Given the description of an element on the screen output the (x, y) to click on. 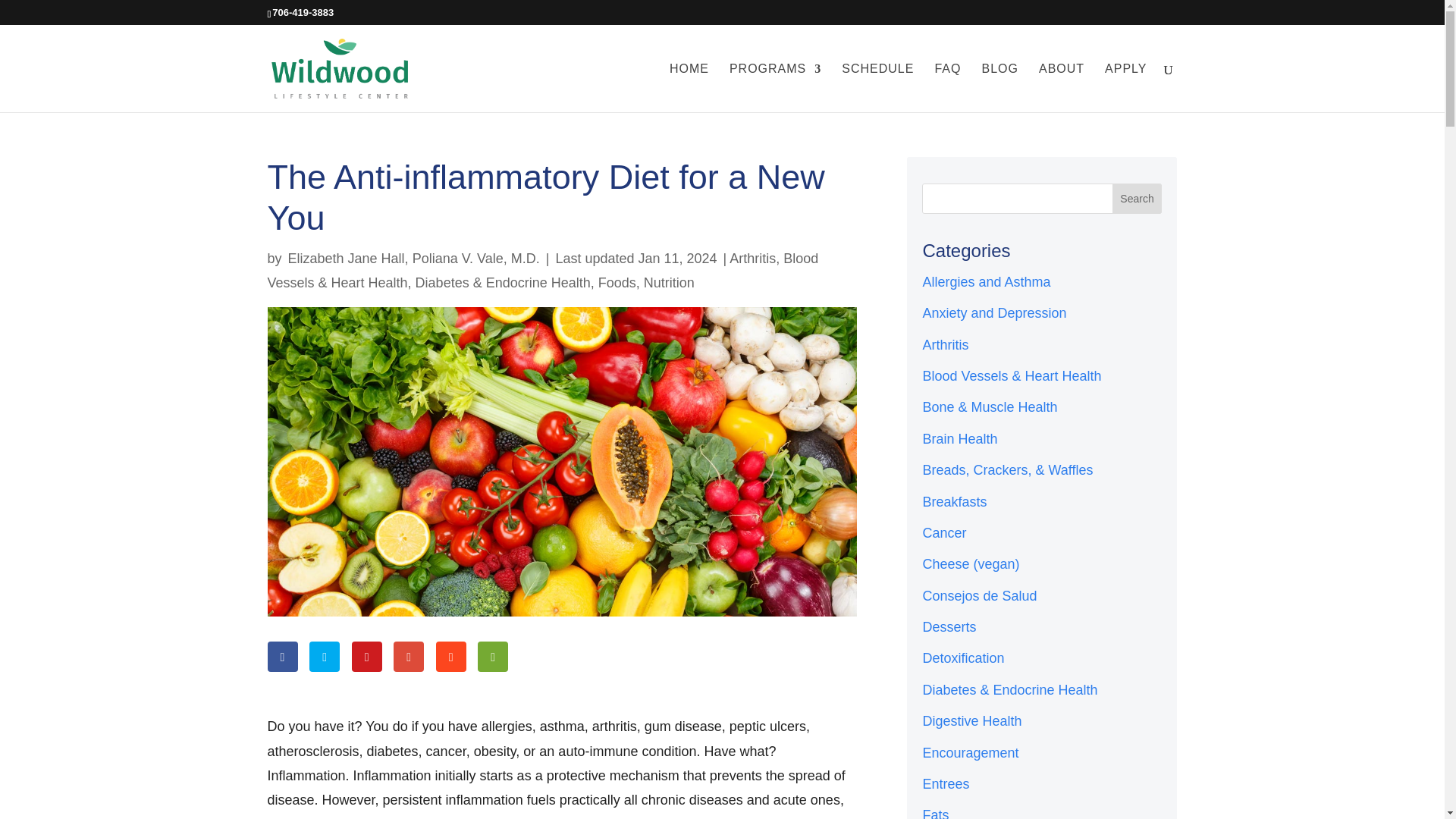
SCHEDULE (877, 87)
Search (1136, 198)
Nutrition (668, 282)
Posts by Elizabeth Jane Hall (346, 258)
Arthritis (752, 258)
PROGRAMS (775, 87)
Elizabeth Jane Hall (346, 258)
Poliana V. Vale, M.D. (476, 258)
Posts by Poliana V. Vale, M.D. (476, 258)
Foods (617, 282)
ABOUT (1061, 87)
